Given the description of an element on the screen output the (x, y) to click on. 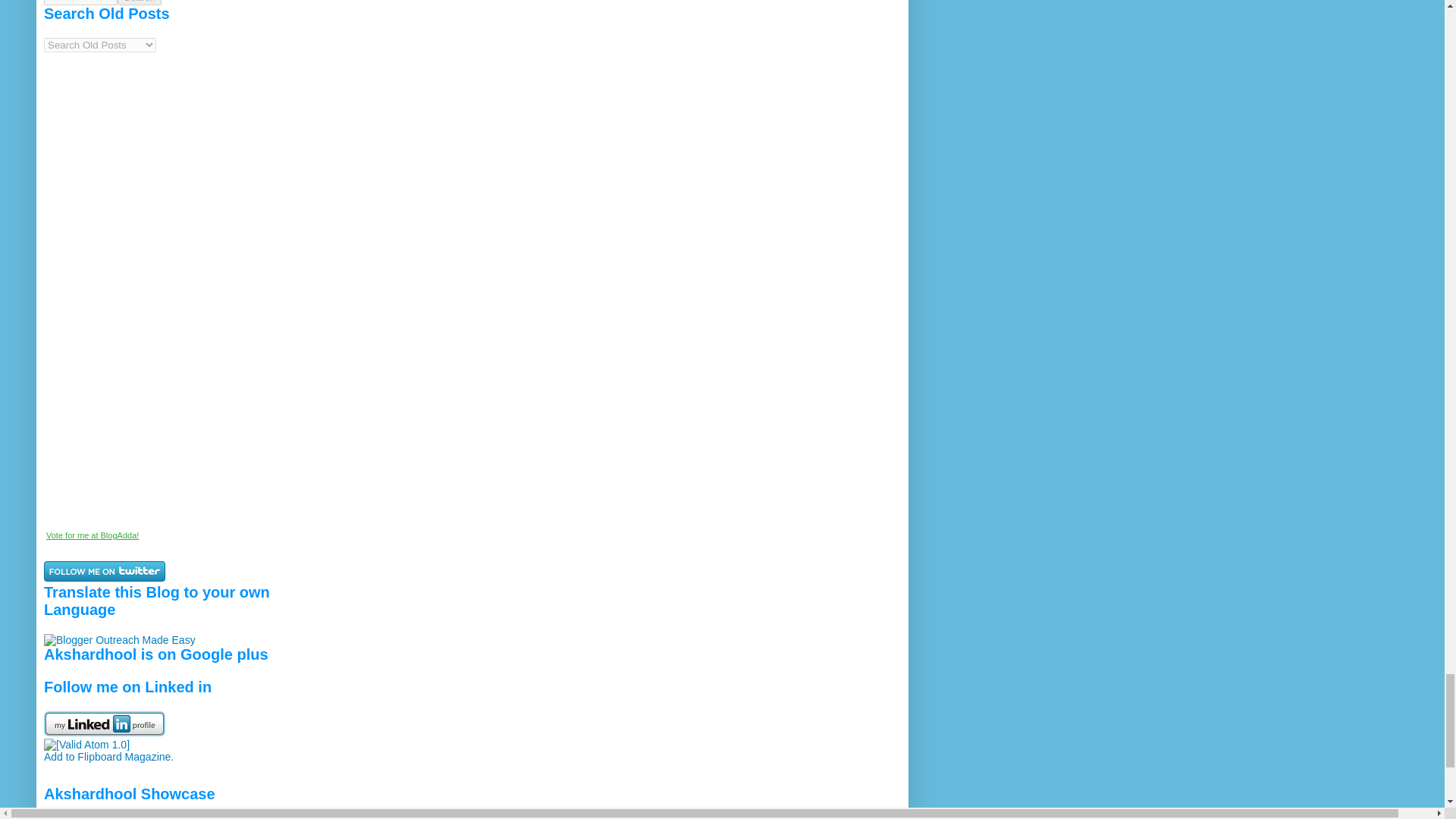
Validate my Atom 1.0 feed (86, 744)
Blogger Outreach Made Easy (119, 639)
search (80, 2)
Search (139, 2)
search (139, 2)
Search (139, 2)
